Given the description of an element on the screen output the (x, y) to click on. 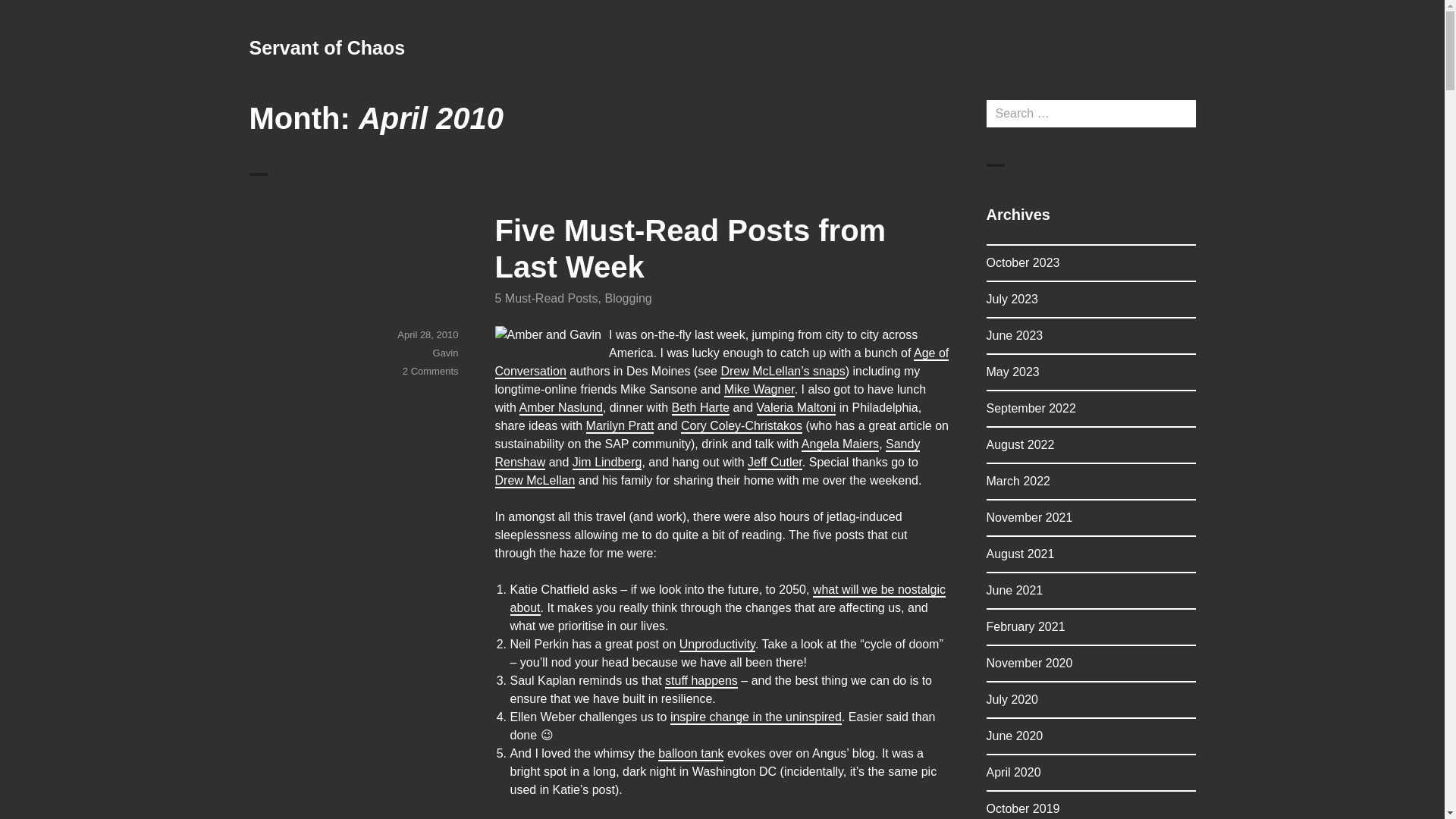
Marilyn Pratt (619, 425)
Jim Lindberg (607, 461)
Jeff Cutler (775, 461)
Servant of Chaos (326, 47)
Valeria Maltoni (796, 407)
inspire change in the uninspired (755, 716)
Beth Harte (700, 407)
Drew McLellan (535, 480)
Angela Maiers (840, 443)
Amber Naslund (560, 407)
Five Must-Read Posts from Last Week (690, 248)
Cory Coley-Christakos (741, 425)
stuff happens (701, 680)
Mike Wagner (758, 389)
balloon tank (690, 753)
